Given the description of an element on the screen output the (x, y) to click on. 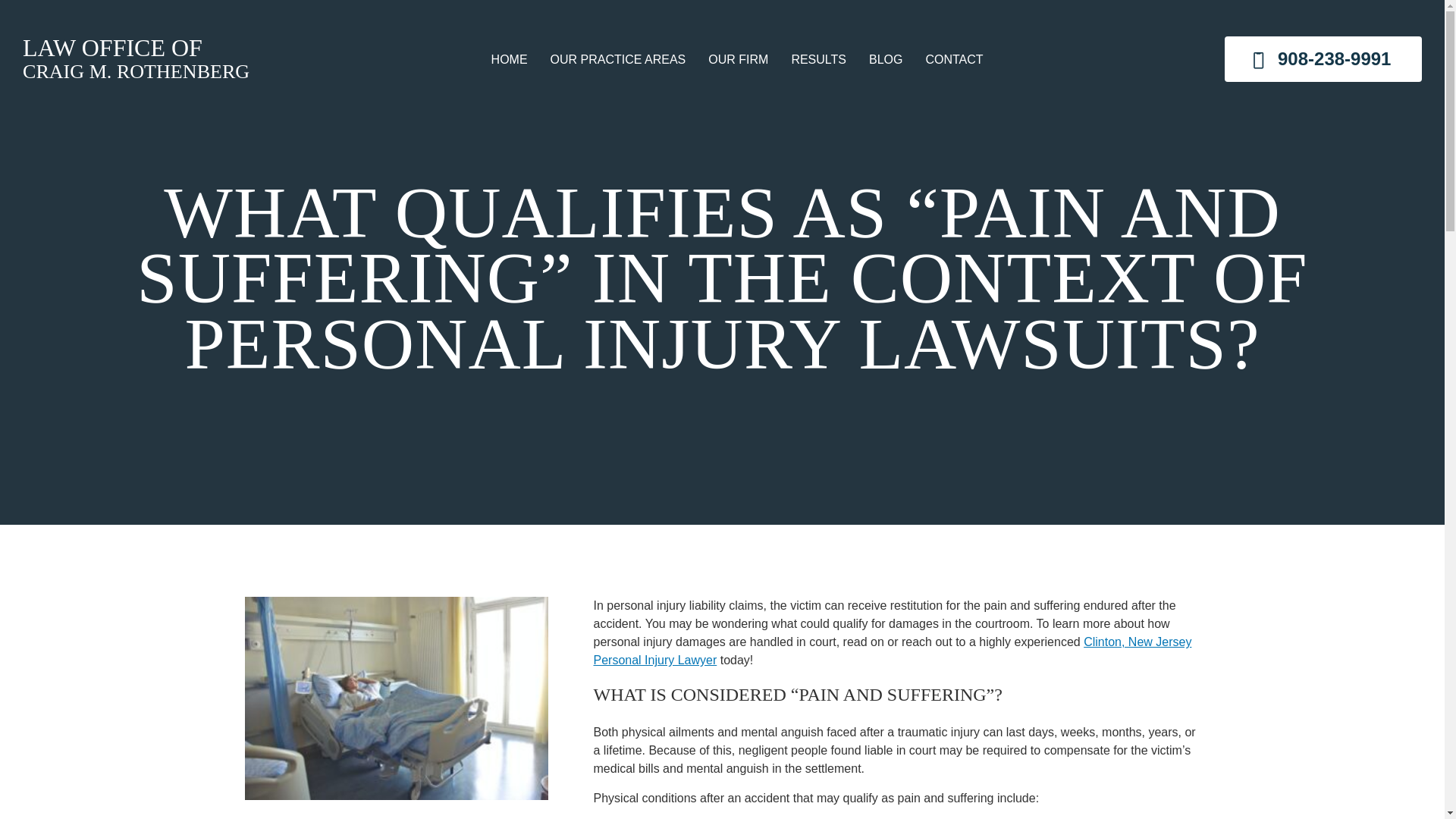
OUR FIRM (737, 59)
OUR PRACTICE AREAS (135, 59)
